Given the description of an element on the screen output the (x, y) to click on. 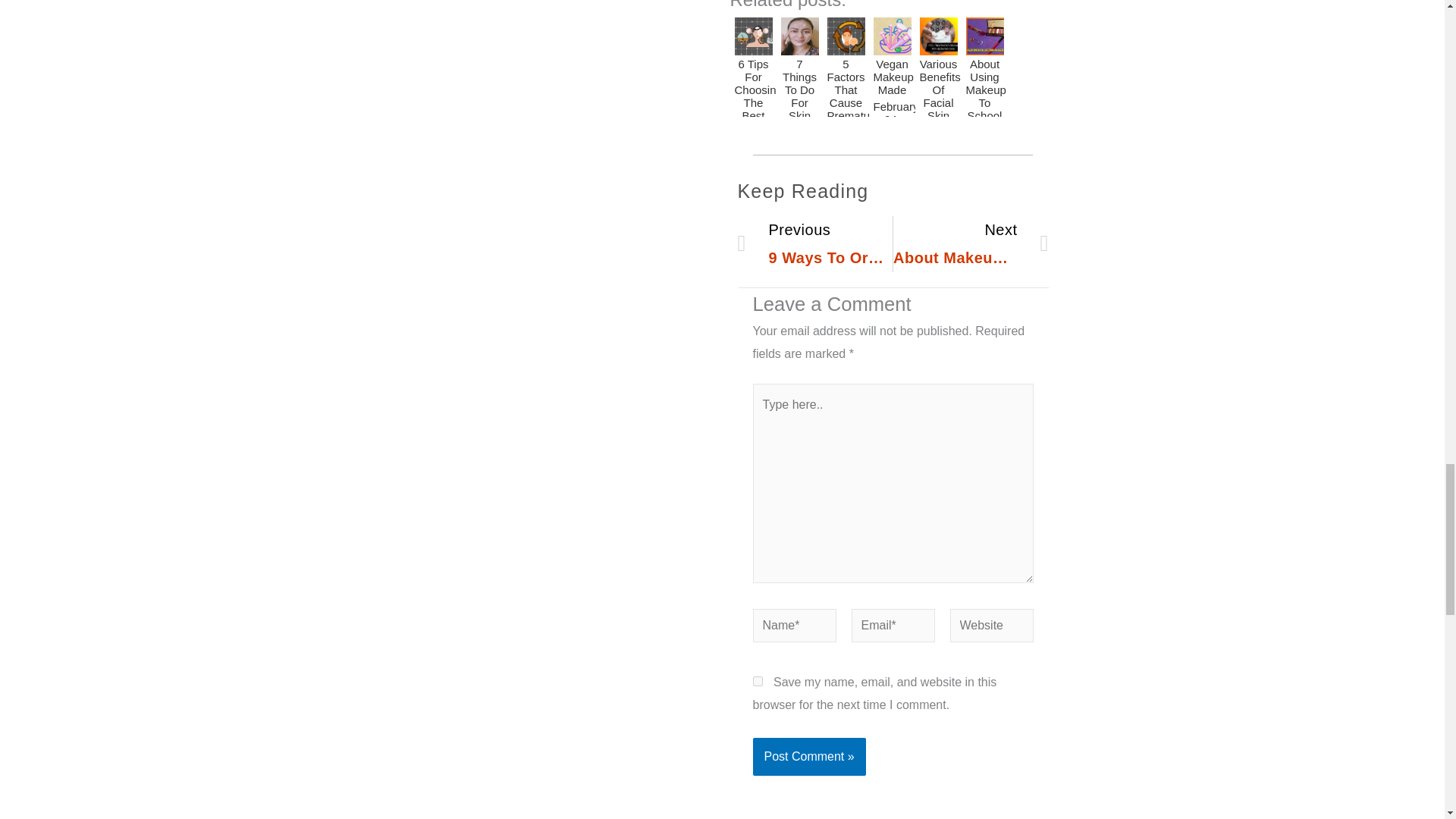
Various Benefits Of Facial Skin Care Cosmetic Products (937, 65)
About Using Makeup To School (984, 65)
7 Things To Do For Skin Care Over 40 (800, 65)
yes (814, 243)
5 Factors That Cause Premature Aging (756, 681)
6 Tips For Choosing The Best Foundation For Aging Skin (970, 243)
